Given the description of an element on the screen output the (x, y) to click on. 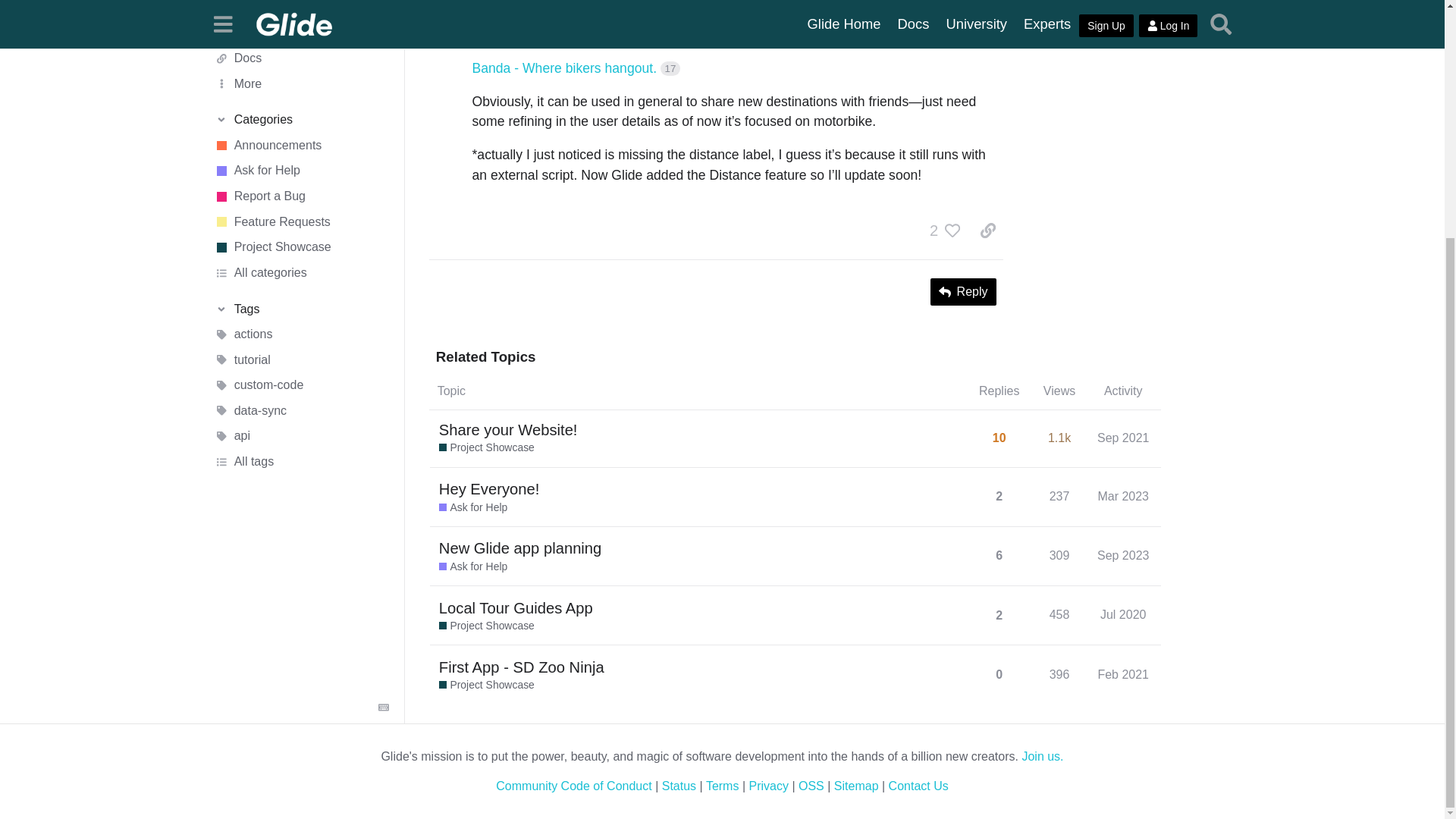
custom-code (301, 155)
actions (301, 104)
api (301, 207)
tutorial (301, 130)
Tags (301, 79)
Toggle section (301, 79)
Banda - Where bikers hangout. 17 (575, 68)
All categories (301, 43)
data-sync (301, 181)
All tags (301, 231)
